Given the description of an element on the screen output the (x, y) to click on. 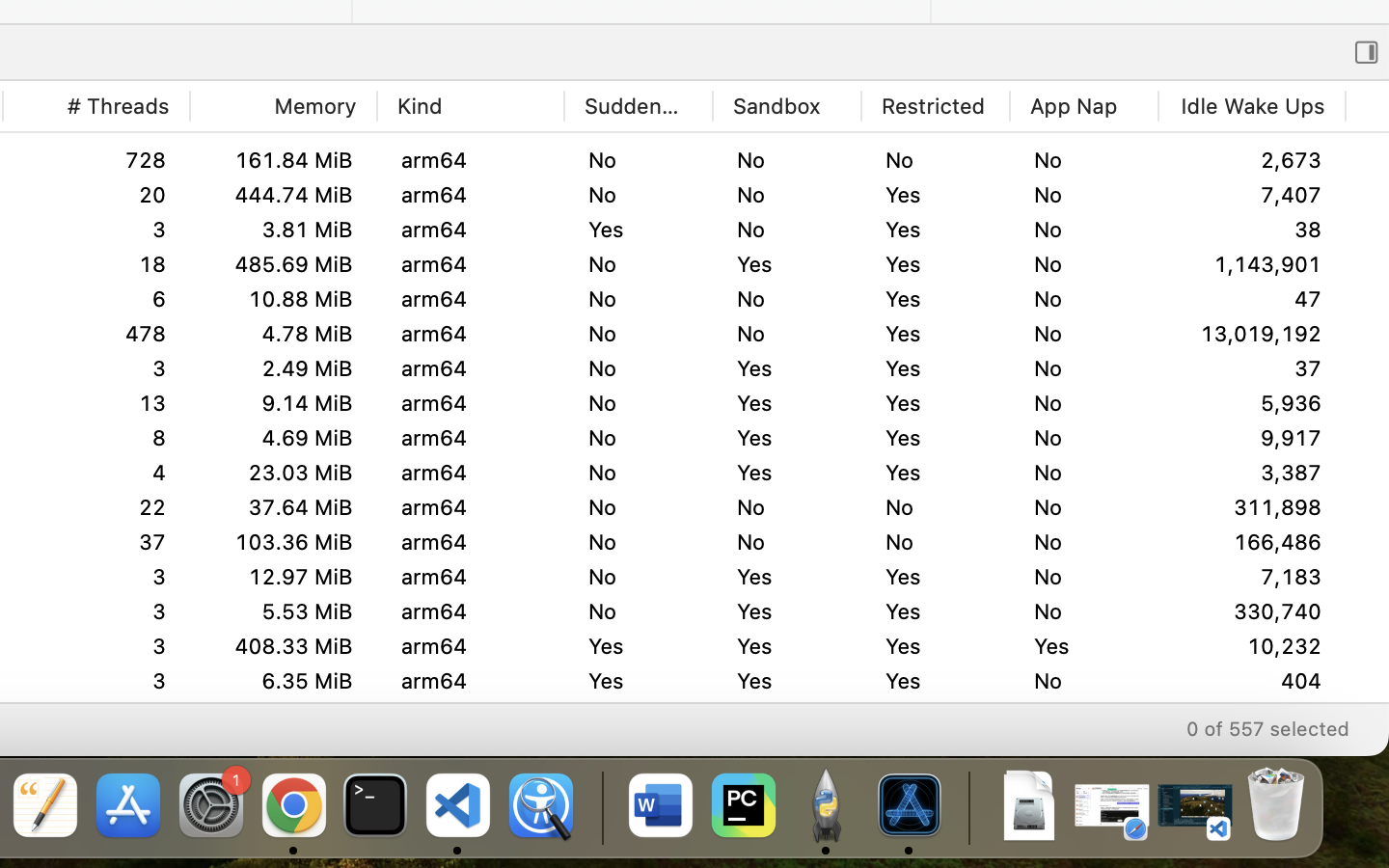
9.60 MiB Element type: AXStaticText (283, 645)
37.64 MiB Element type: AXStaticText (283, 506)
22 Element type: AXStaticText (96, 541)
3 Element type: AXStaticText (96, 506)
8.97 MiB Element type: AXStaticText (283, 576)
